Given the description of an element on the screen output the (x, y) to click on. 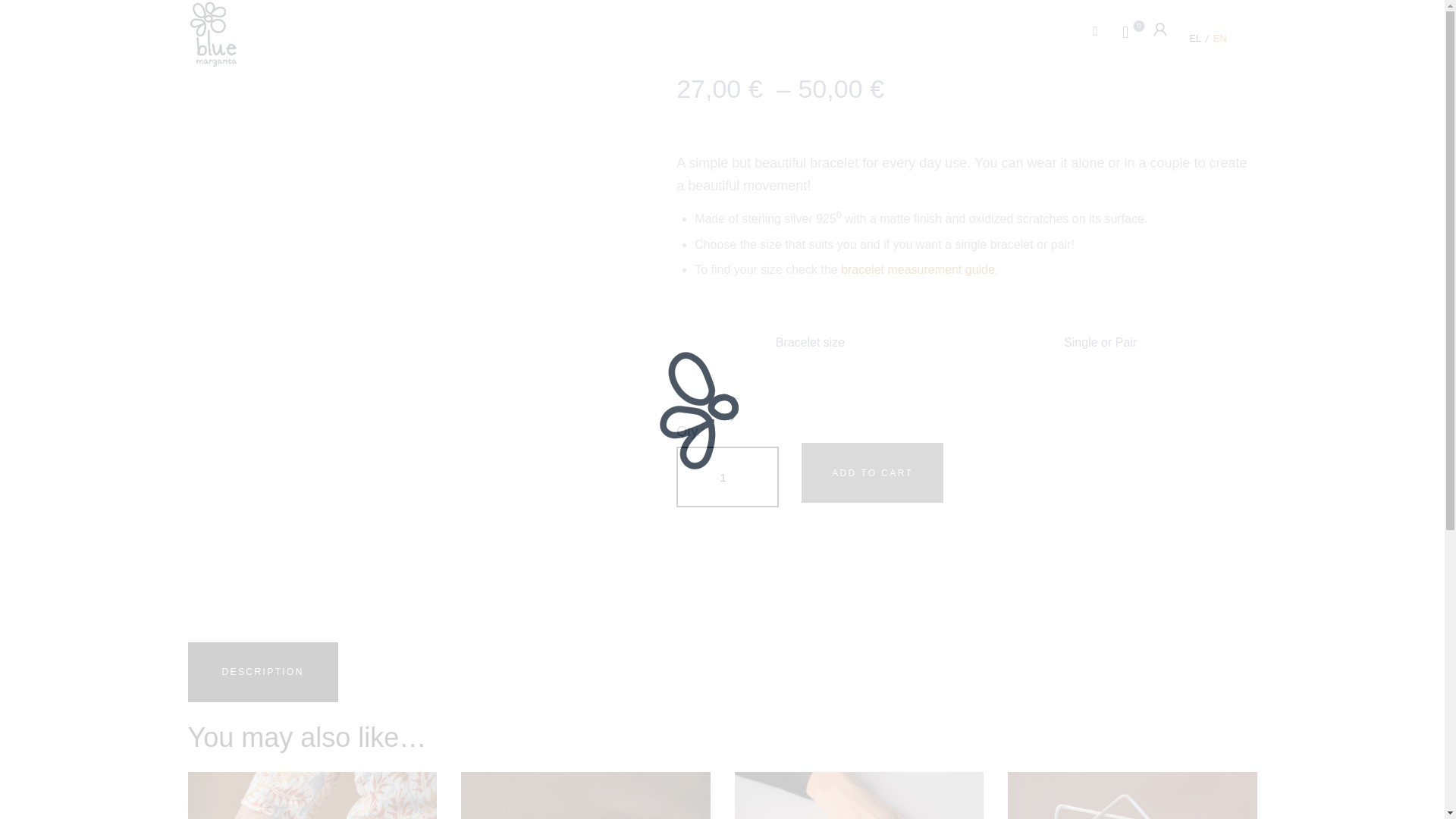
ADD TO CART (872, 472)
EL (1197, 40)
EN (1223, 40)
1 (727, 476)
bracelet measurement guide (917, 269)
0 (1135, 31)
